Given the description of an element on the screen output the (x, y) to click on. 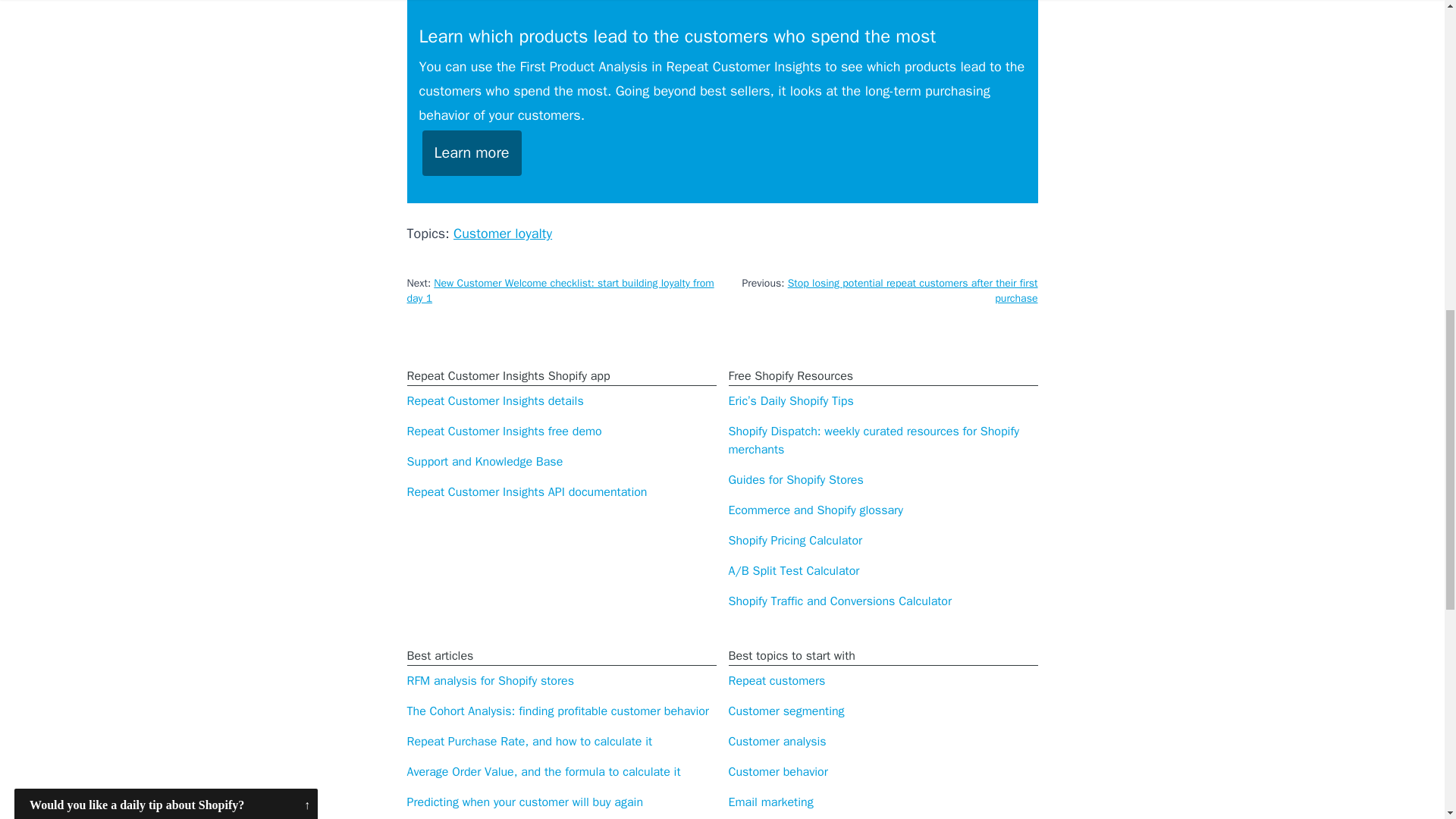
Customer loyalty (501, 233)
Learn more (471, 153)
Repeat Customer Insights free demo (503, 431)
Repeat Customer Insights details (494, 400)
Subscribe (165, 121)
